Given the description of an element on the screen output the (x, y) to click on. 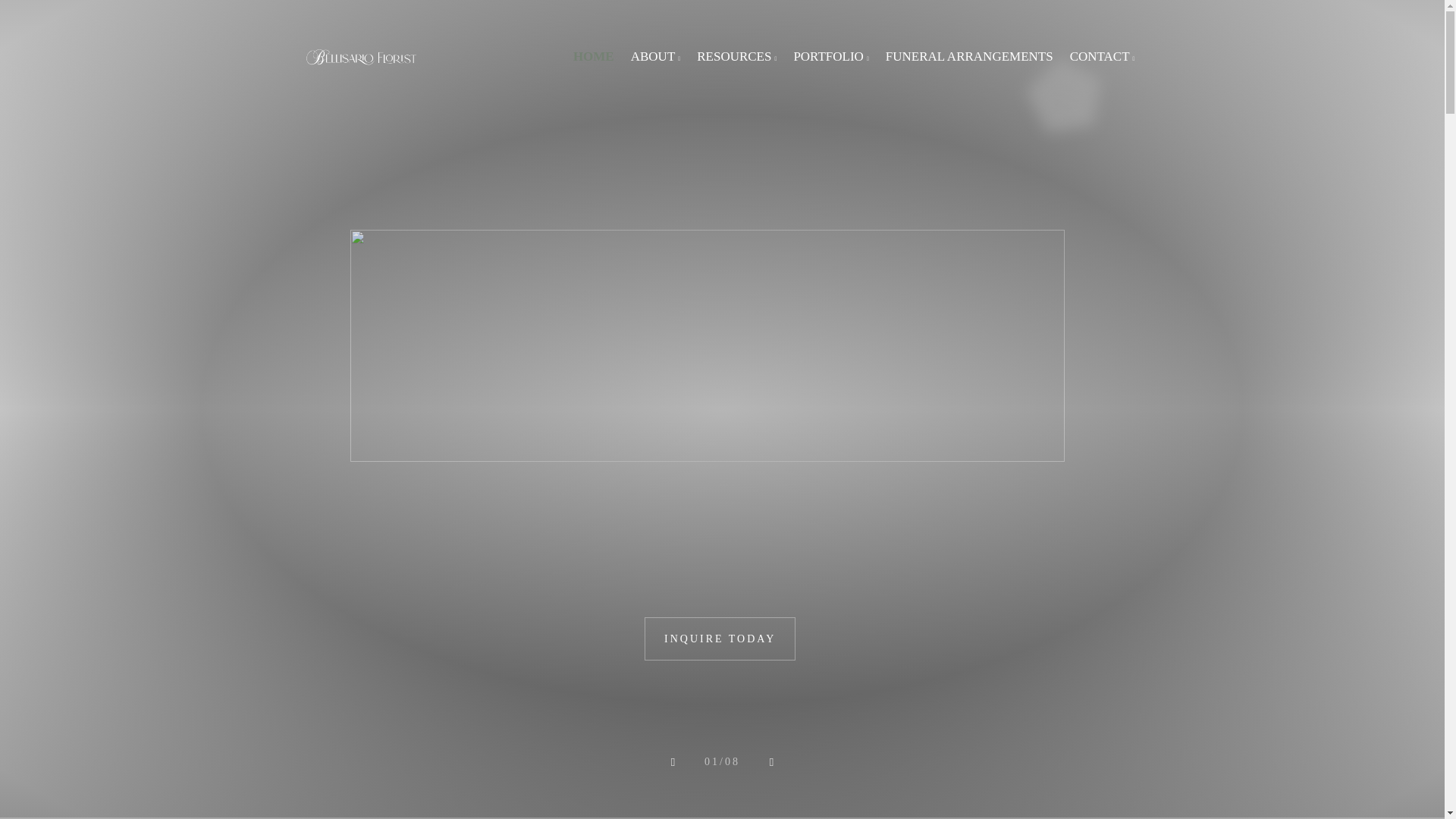
FUNERAL ARRANGEMENTS (969, 56)
INQUIRE TODAY (719, 638)
HOME (593, 56)
